Given the description of an element on the screen output the (x, y) to click on. 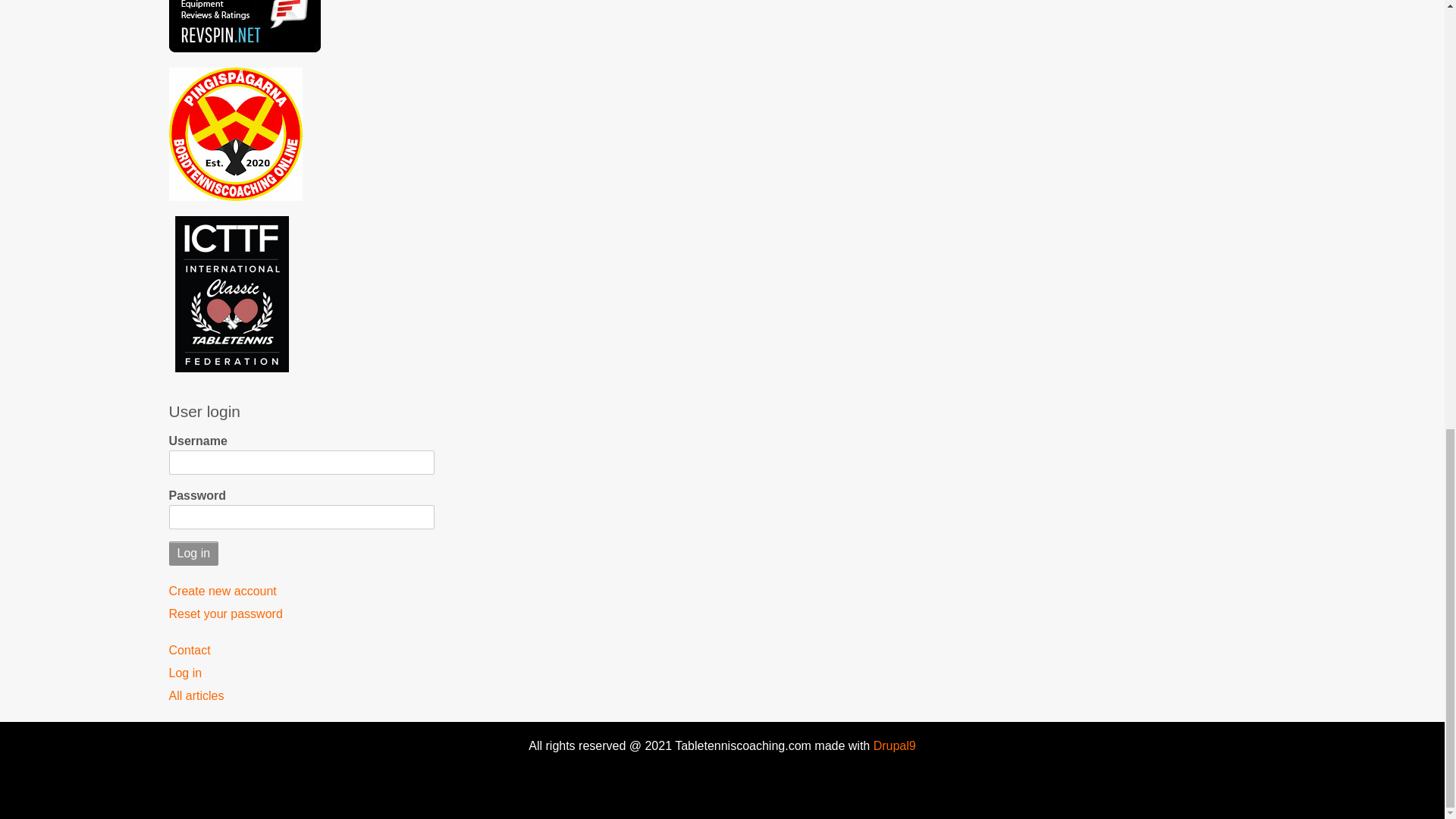
Contact (300, 649)
Create a new user account. (300, 590)
Create new account (300, 590)
Log in (300, 672)
Reset your password (300, 613)
All articles (300, 695)
Send password reset instructions via email. (300, 613)
Log in (193, 553)
Drupal9 (892, 745)
Log in (193, 553)
